Given the description of an element on the screen output the (x, y) to click on. 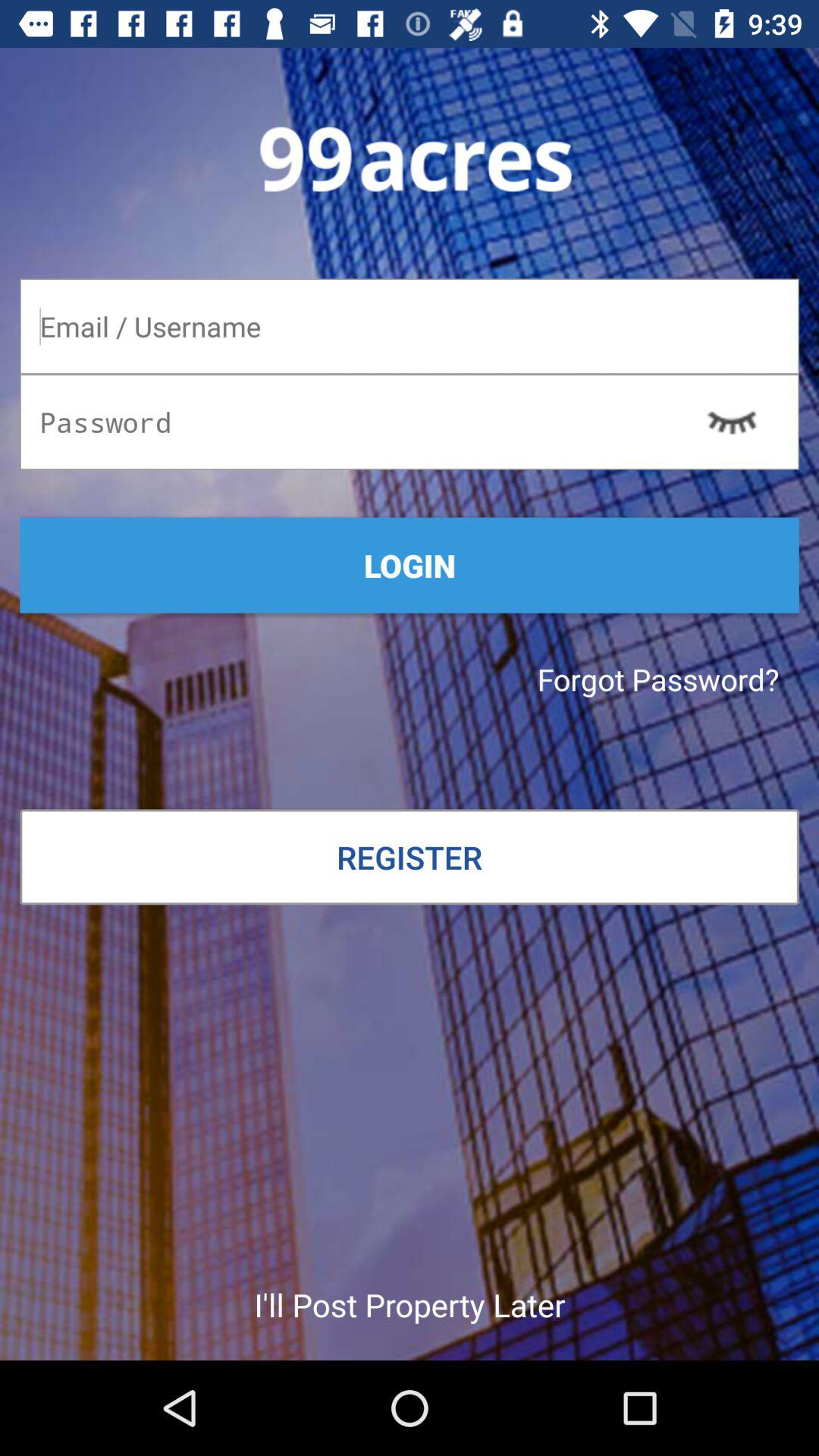
password (409, 421)
